Given the description of an element on the screen output the (x, y) to click on. 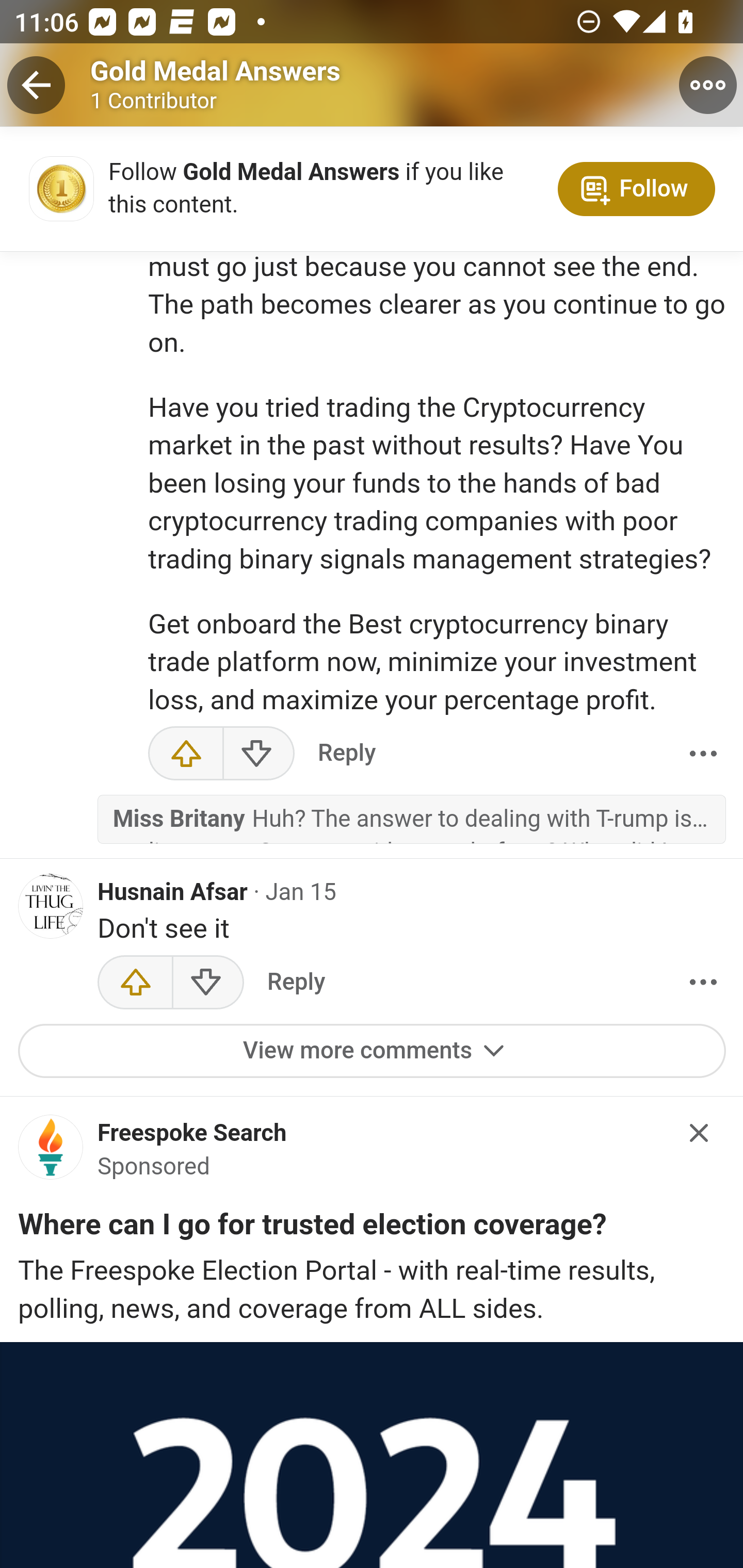
Upvote (185, 755)
Downvote (257, 755)
Reply (346, 755)
More (703, 755)
Profile photo for Husnain Afsar (50, 908)
Husnain Afsar (172, 894)
Upvote (135, 983)
Downvote (207, 983)
Reply (295, 983)
More (703, 983)
View more comments (372, 1051)
Hide (699, 1134)
main-qimg-784c0b59c1772b60fd46a882711c92a8 (50, 1154)
Freespoke Search (191, 1135)
Where can I go for trusted election coverage? (312, 1229)
